Given the description of an element on the screen output the (x, y) to click on. 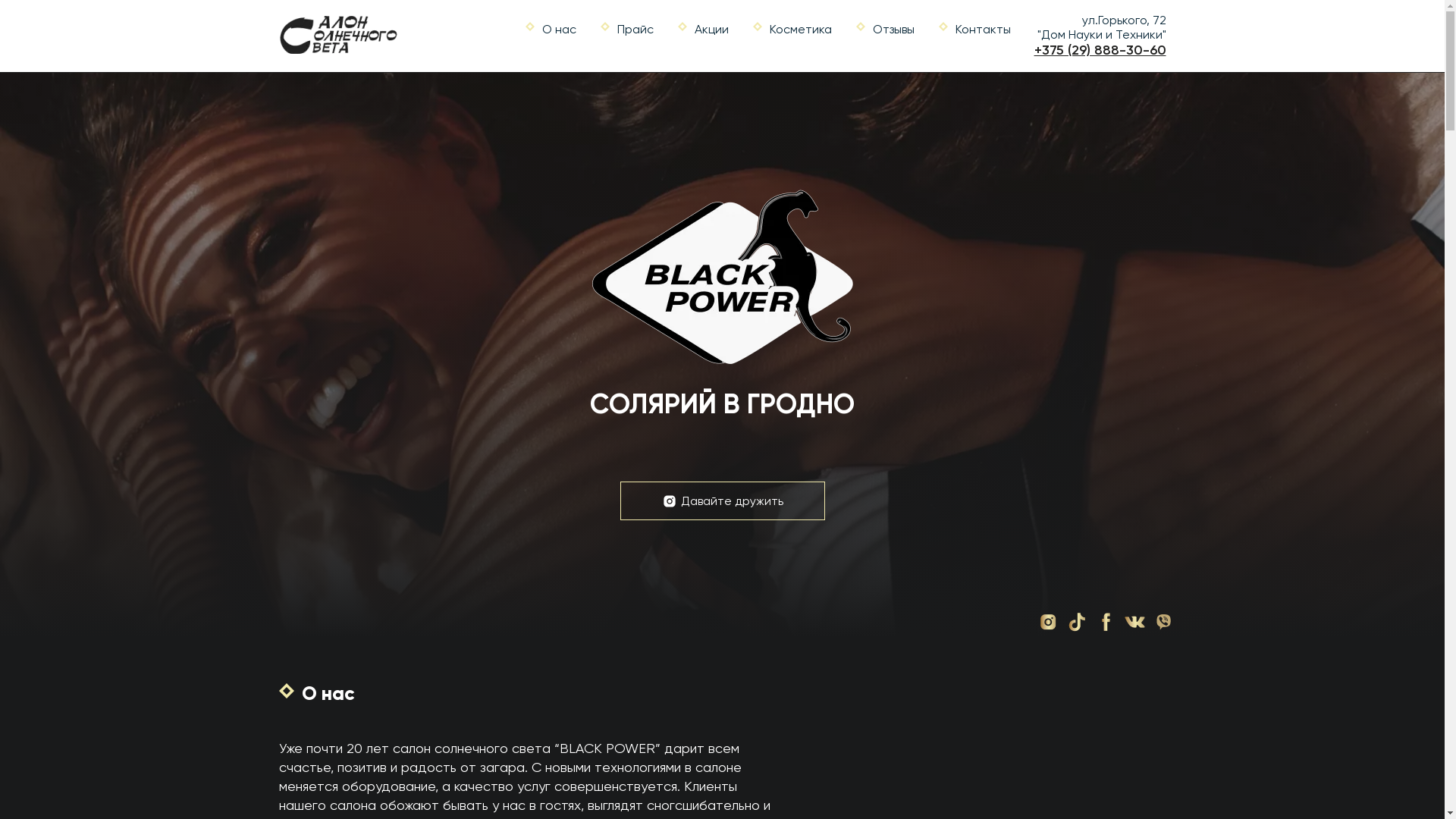
+375 (29) 888-30-60 Element type: text (1100, 49)
